Given the description of an element on the screen output the (x, y) to click on. 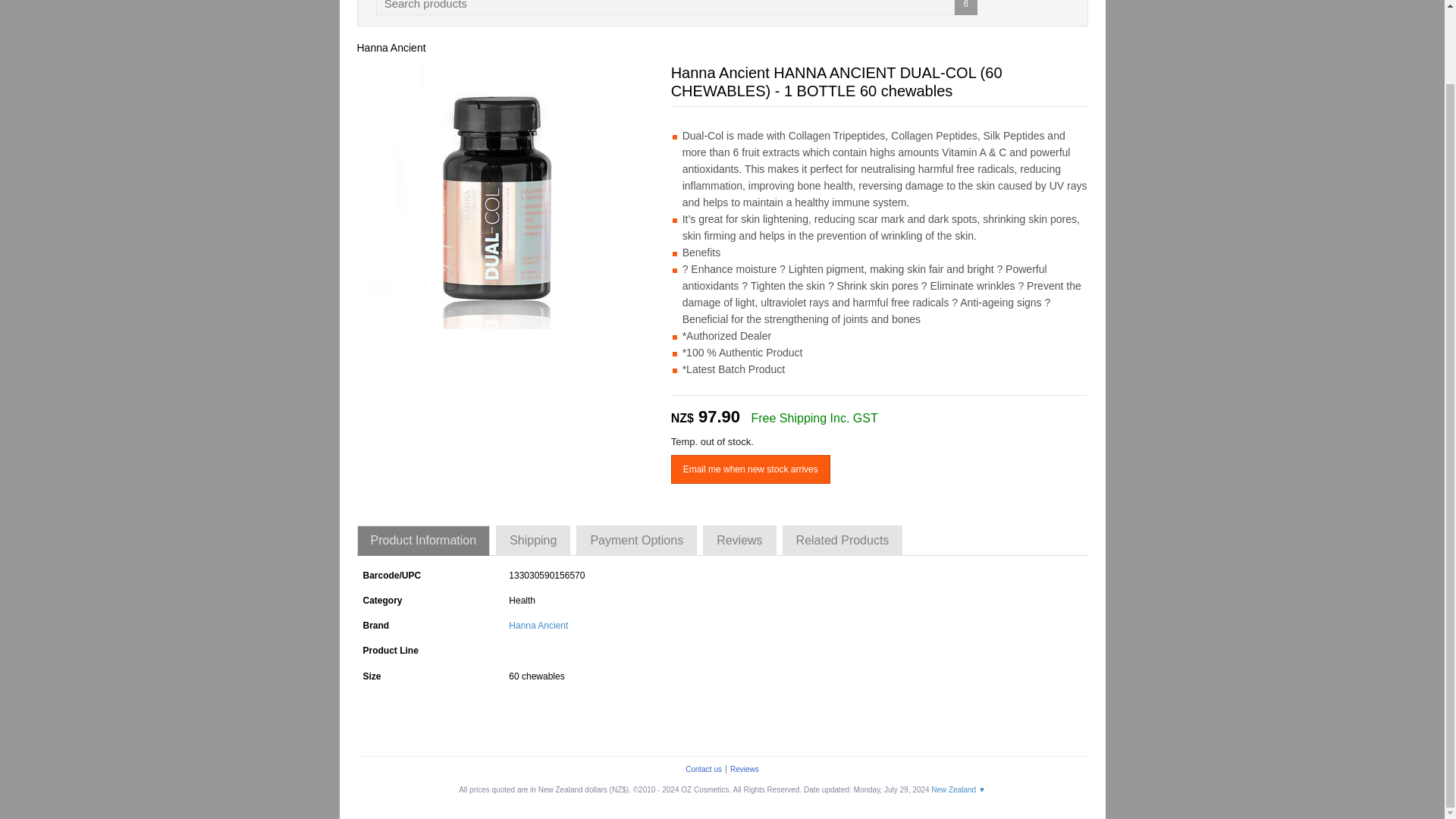
Related Products (842, 540)
Hanna Ancient (390, 47)
Hanna Ancient (537, 624)
OZ Cosmetics Review (744, 768)
Reviews (739, 540)
Product Information (422, 540)
Payment Options (636, 540)
Hanna Ancient (390, 47)
Shipping (533, 540)
Email me when new stock arrives (750, 469)
